Given the description of an element on the screen output the (x, y) to click on. 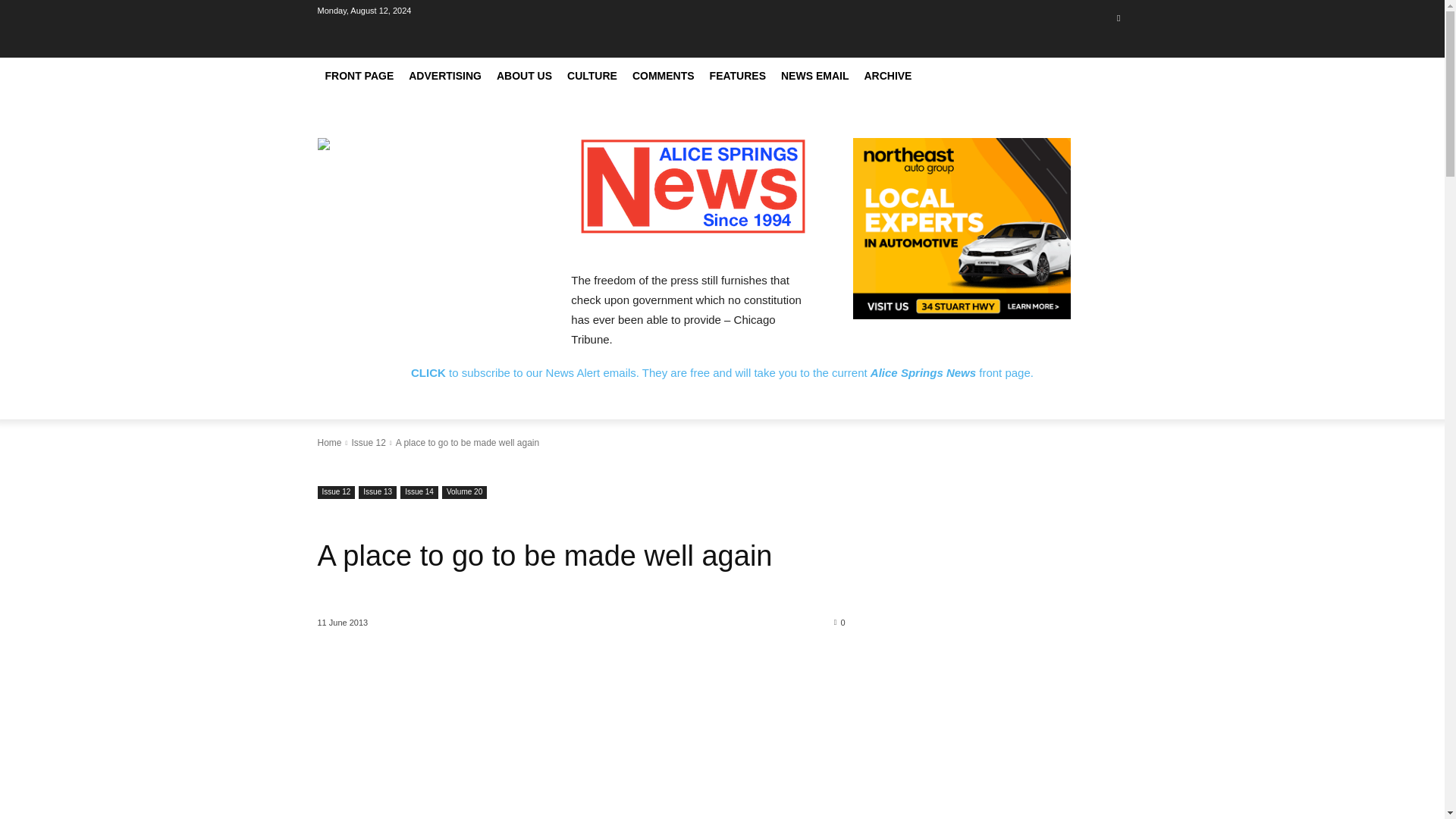
Facebook (1117, 17)
Issue 12 (336, 492)
View all posts in Issue 12 (367, 442)
ARCHIVE (887, 75)
ABOUT US (524, 75)
FRONT PAGE (359, 75)
ADVERTISING (445, 75)
COMMENTS (662, 75)
FEATURES (737, 75)
